Given the description of an element on the screen output the (x, y) to click on. 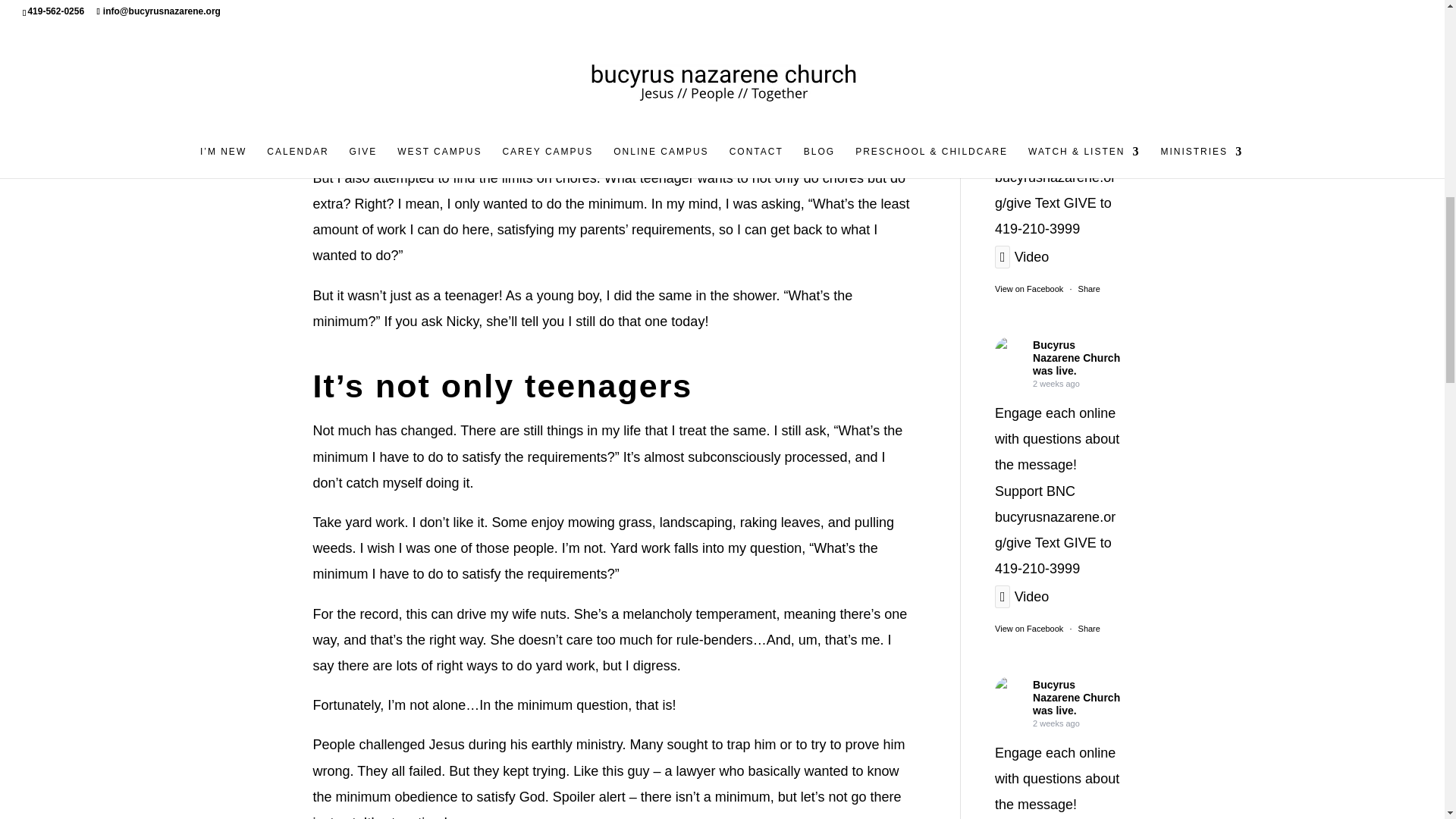
Bucyrus Nazarene Church (1009, 13)
View on Facebook (1028, 288)
Share (1089, 628)
Bucyrus Nazarene Church (1009, 351)
Bucyrus Nazarene Church (1009, 691)
View on Facebook (1028, 628)
Share (1089, 288)
Bucyrus Nazarene Church (1075, 12)
